Given the description of an element on the screen output the (x, y) to click on. 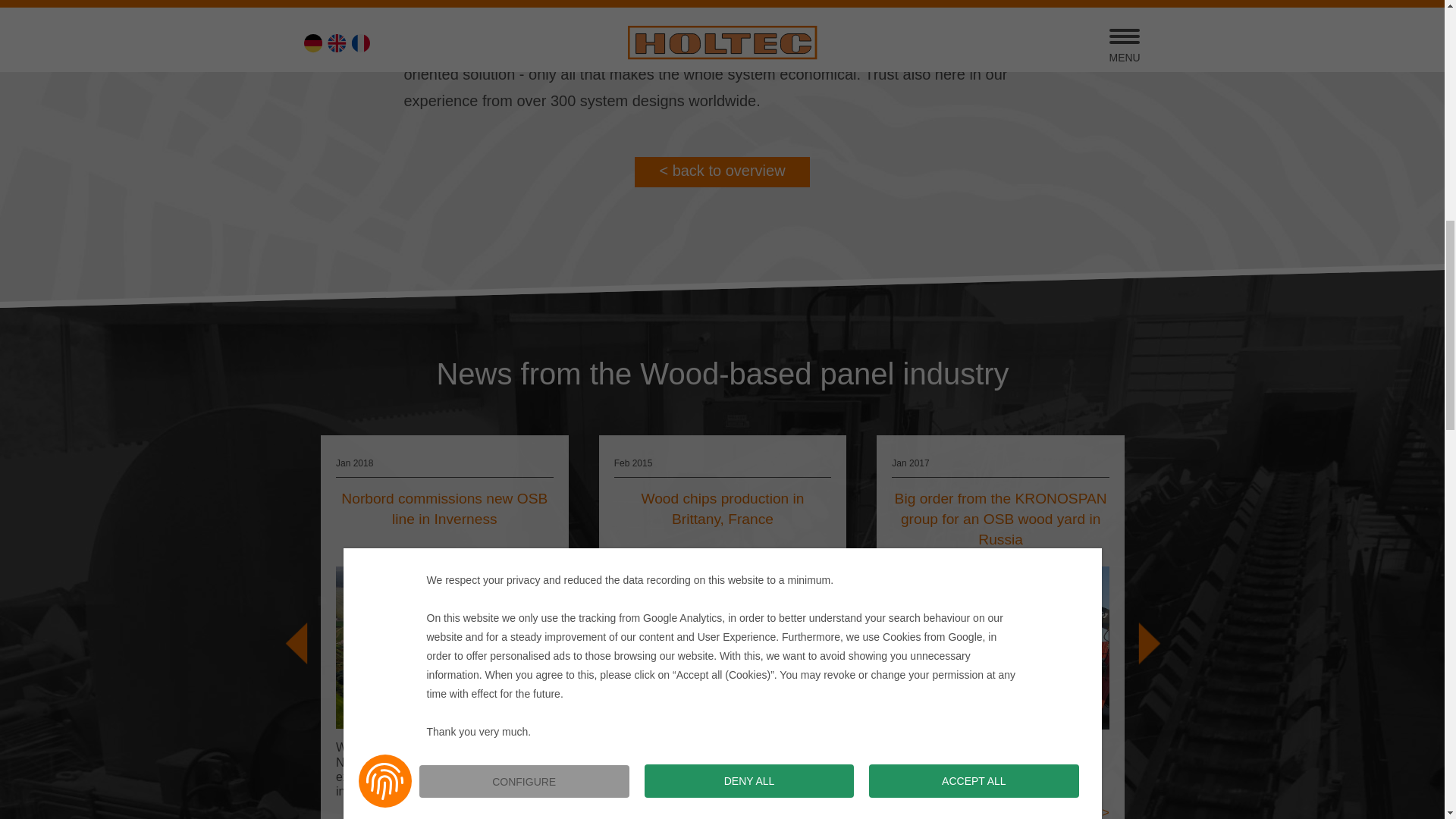
Wood chips production in Brittany, France (721, 808)
Norbord commissions new OSB line in Inverness (443, 814)
